Given the description of an element on the screen output the (x, y) to click on. 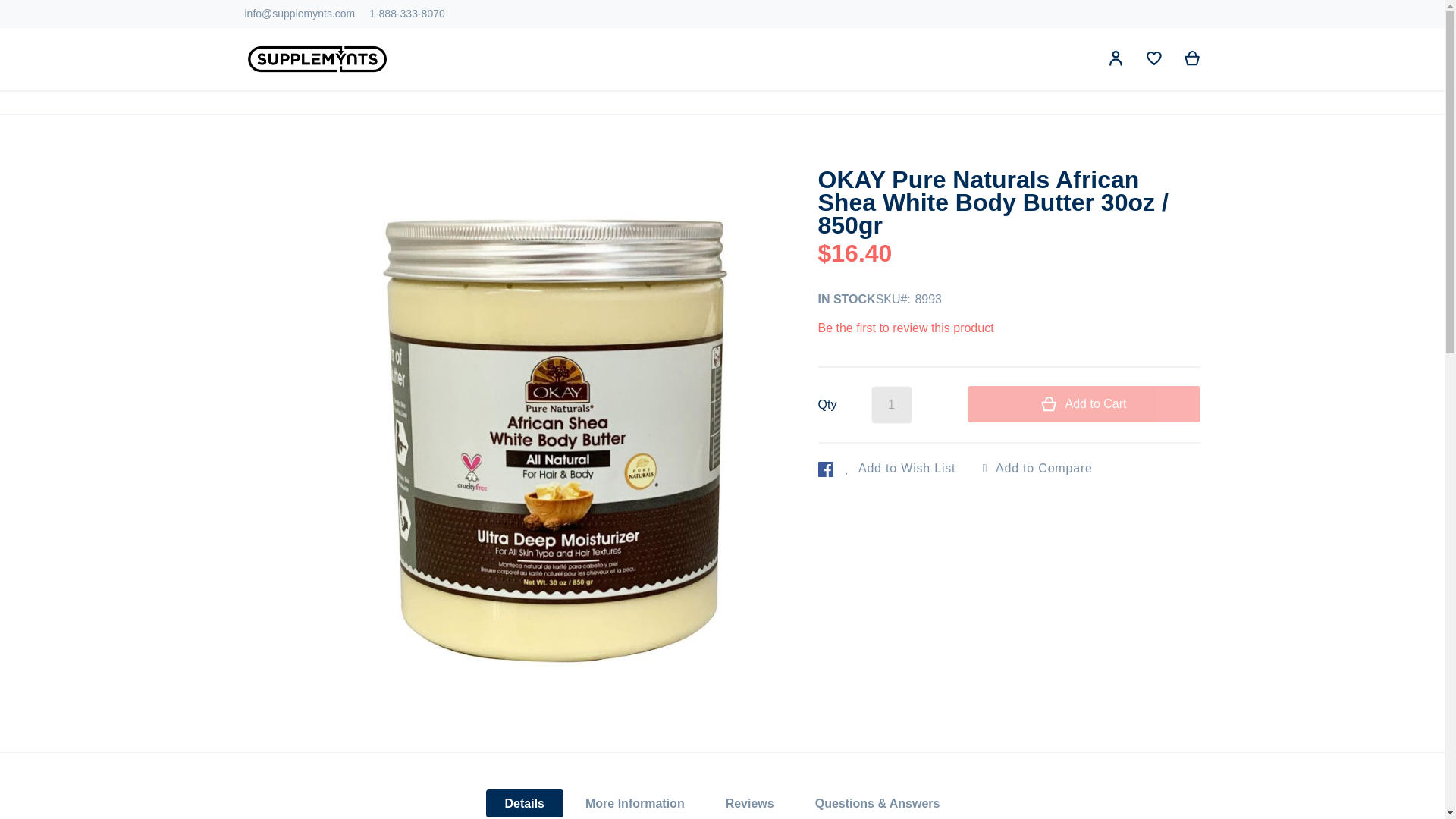
Add to Compare (1035, 468)
Add to Cart (1083, 403)
Details (524, 803)
1-888-333-8070 (407, 13)
Be the first to review this product (904, 327)
Reviews (749, 803)
Qty (890, 404)
My Account (1116, 60)
Add to Wish List (898, 468)
My Wish List (1154, 61)
Availability (845, 299)
Add to Cart (1083, 403)
1 (890, 404)
Email Us (299, 13)
Like product on Facebook (824, 468)
